Given the description of an element on the screen output the (x, y) to click on. 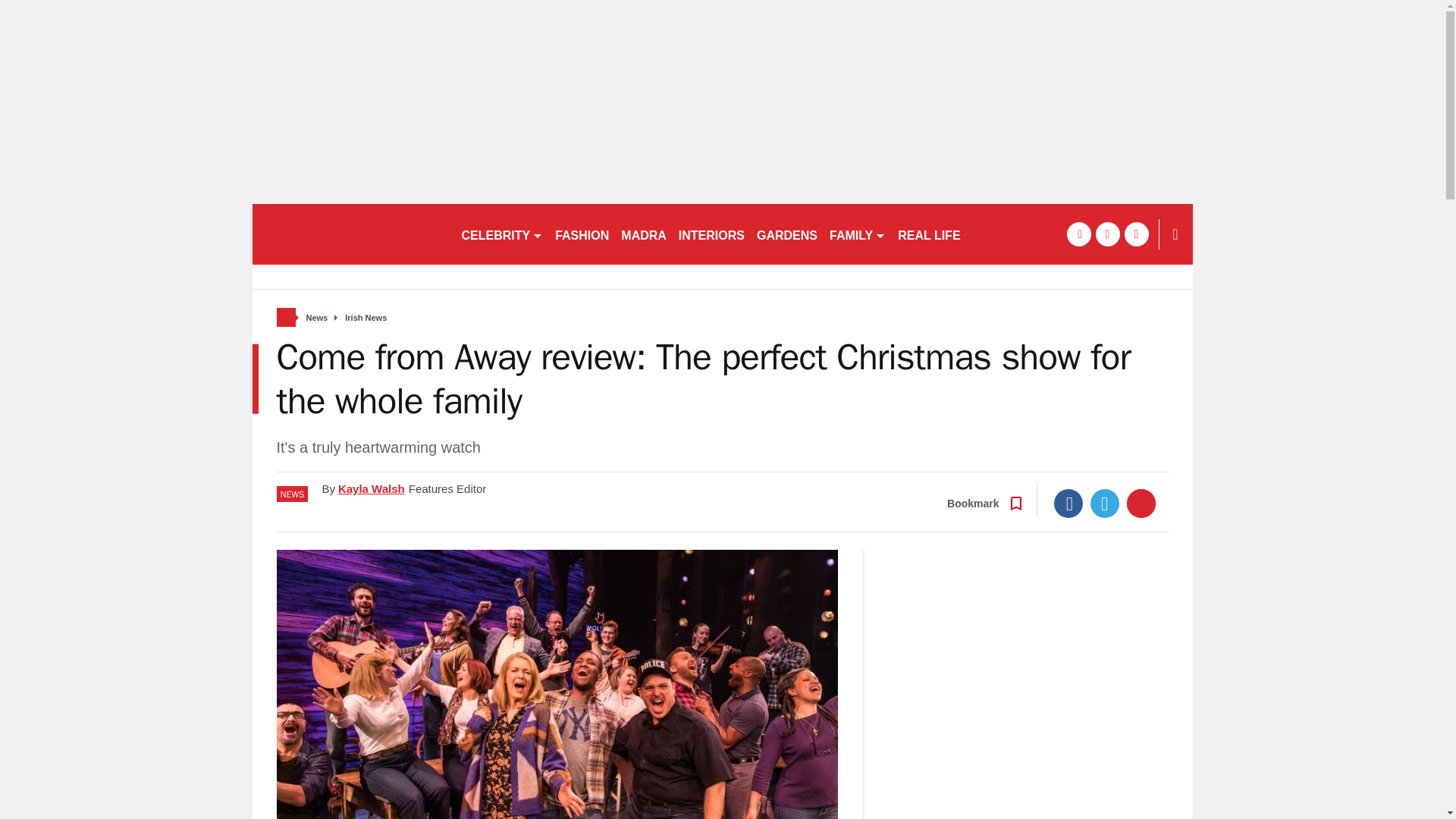
Facebook (1068, 502)
instagram (1136, 233)
twitter (1106, 233)
FASHION (581, 233)
Twitter (1104, 502)
CELEBRITY (501, 233)
INTERIORS (711, 233)
rsvp (348, 233)
FAMILY (857, 233)
GARDENS (787, 233)
